Given the description of an element on the screen output the (x, y) to click on. 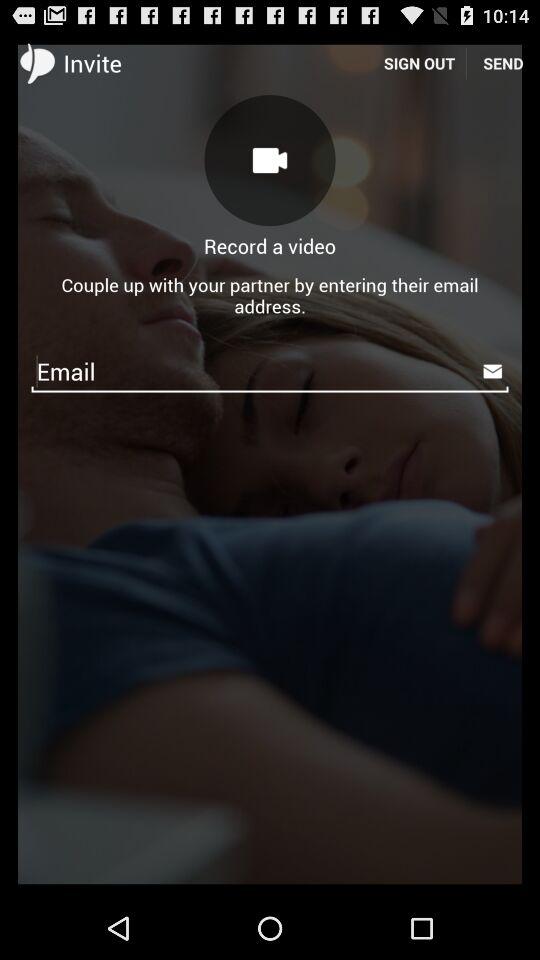
flip to send (503, 62)
